Given the description of an element on the screen output the (x, y) to click on. 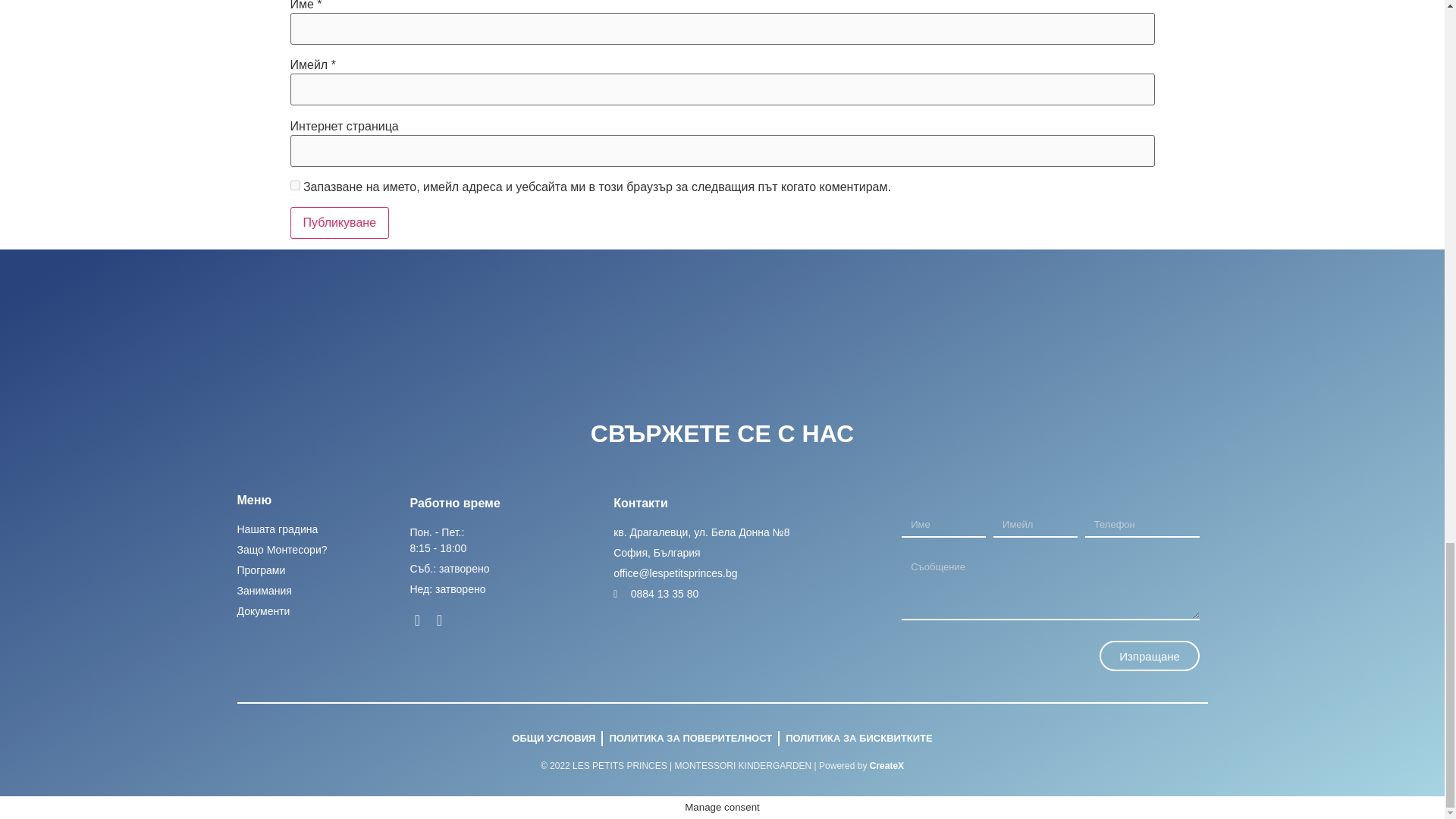
yes (294, 185)
